Given the description of an element on the screen output the (x, y) to click on. 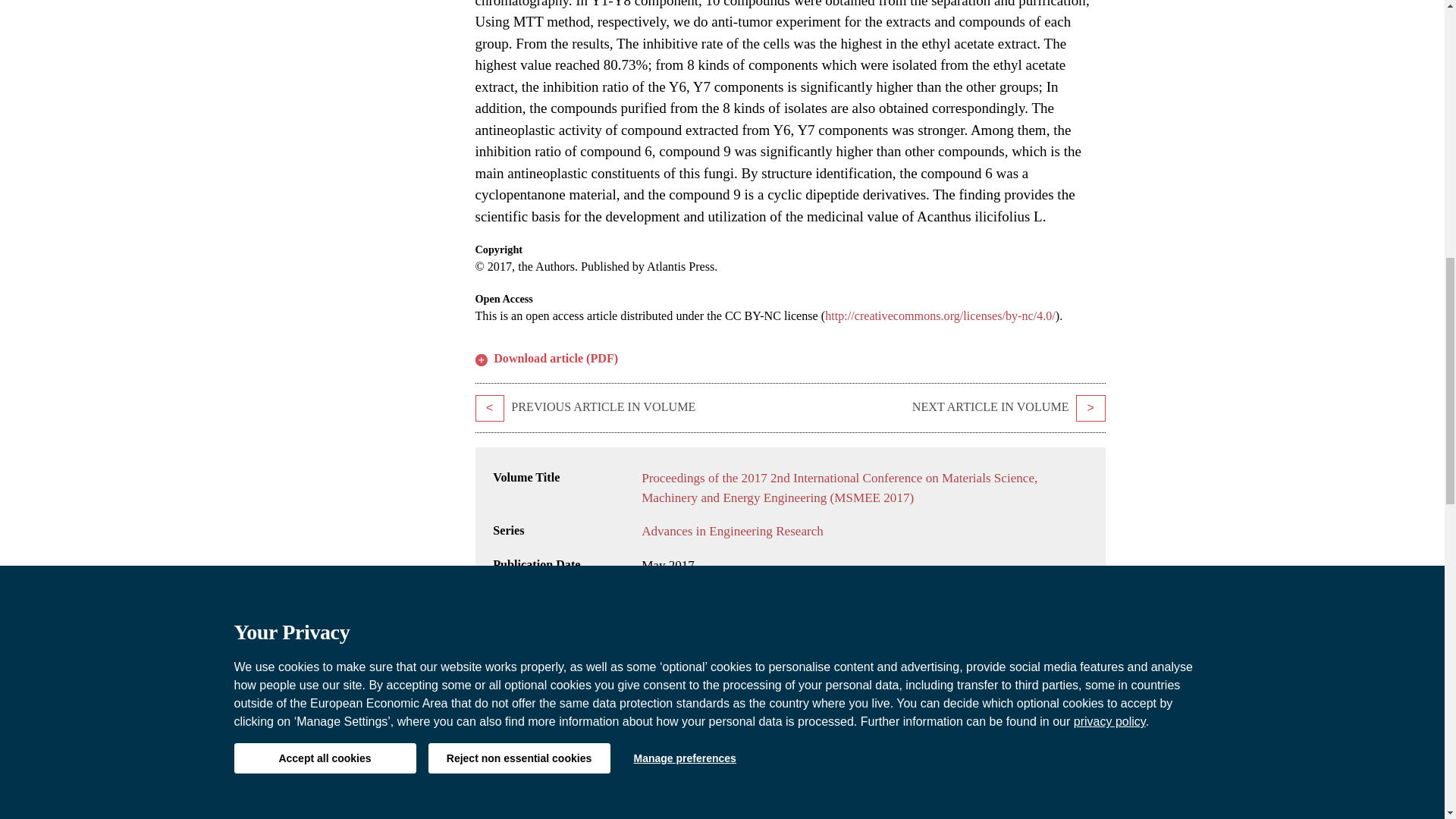
Advances in Engineering Research (733, 531)
